Given the description of an element on the screen output the (x, y) to click on. 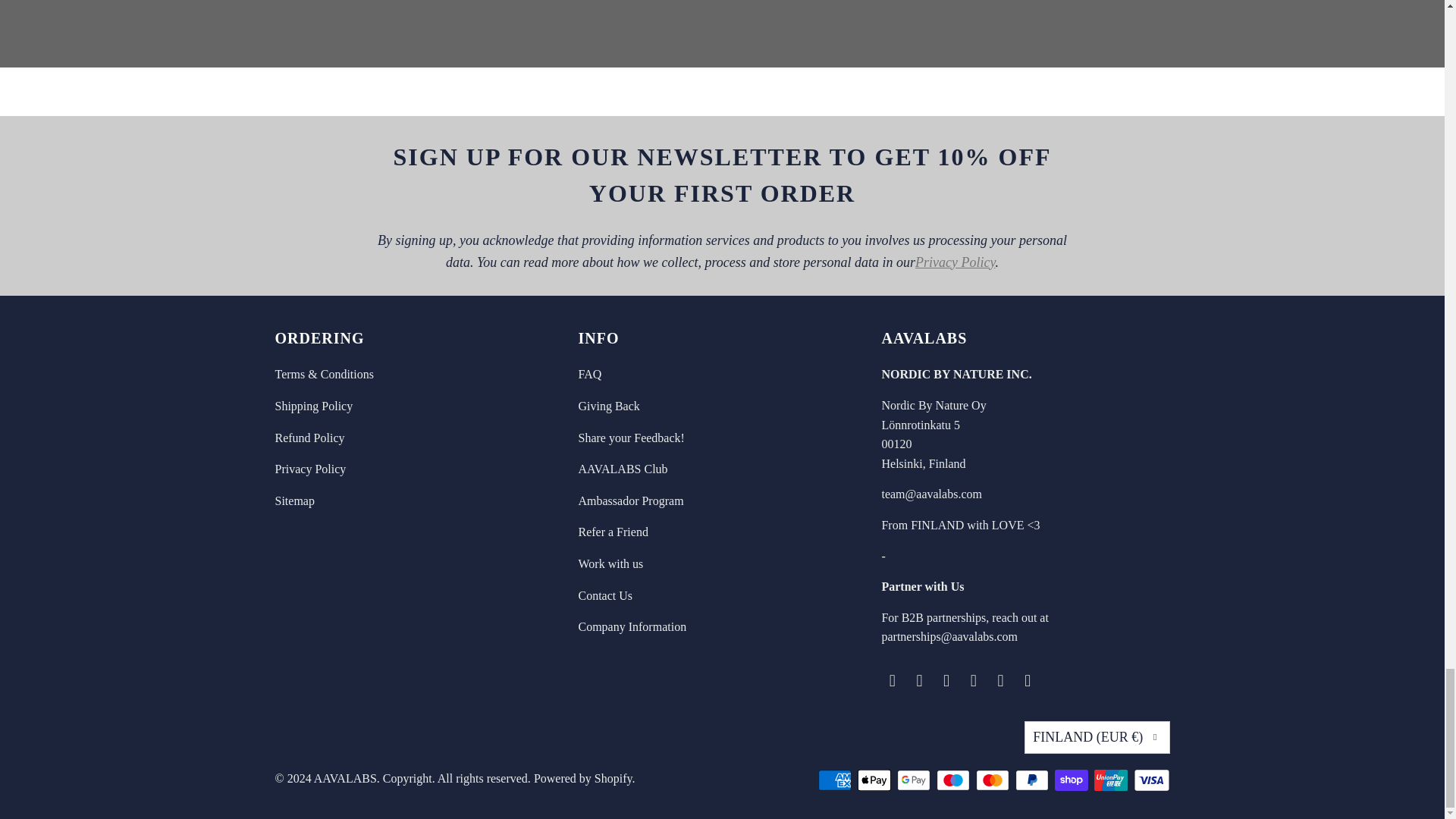
American Express (834, 780)
AAVALABS on YouTube (1027, 680)
AAVALABS on Instagram (947, 680)
Mastercard (993, 780)
Google Pay (914, 780)
Apple Pay (875, 780)
Union Pay (1111, 780)
PayPal (1032, 780)
Visa (1150, 780)
Maestro (954, 780)
Shop Pay (1072, 780)
Email AAVALABS (892, 680)
AAVALABS on TikTok (1000, 680)
AAVALABS on LinkedIn (973, 680)
AAVALABS on Facebook (919, 680)
